Given the description of an element on the screen output the (x, y) to click on. 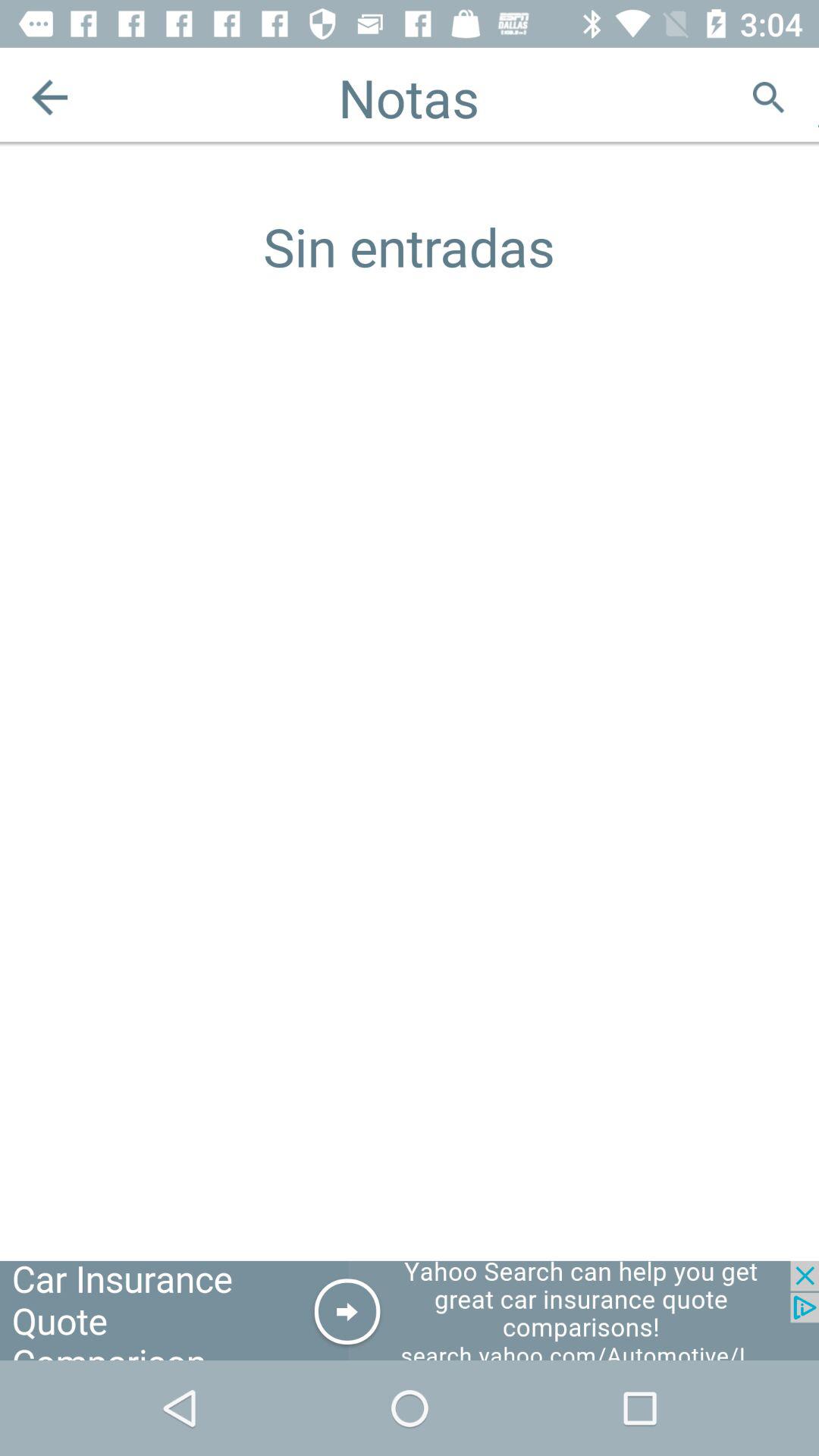
search (768, 97)
